Given the description of an element on the screen output the (x, y) to click on. 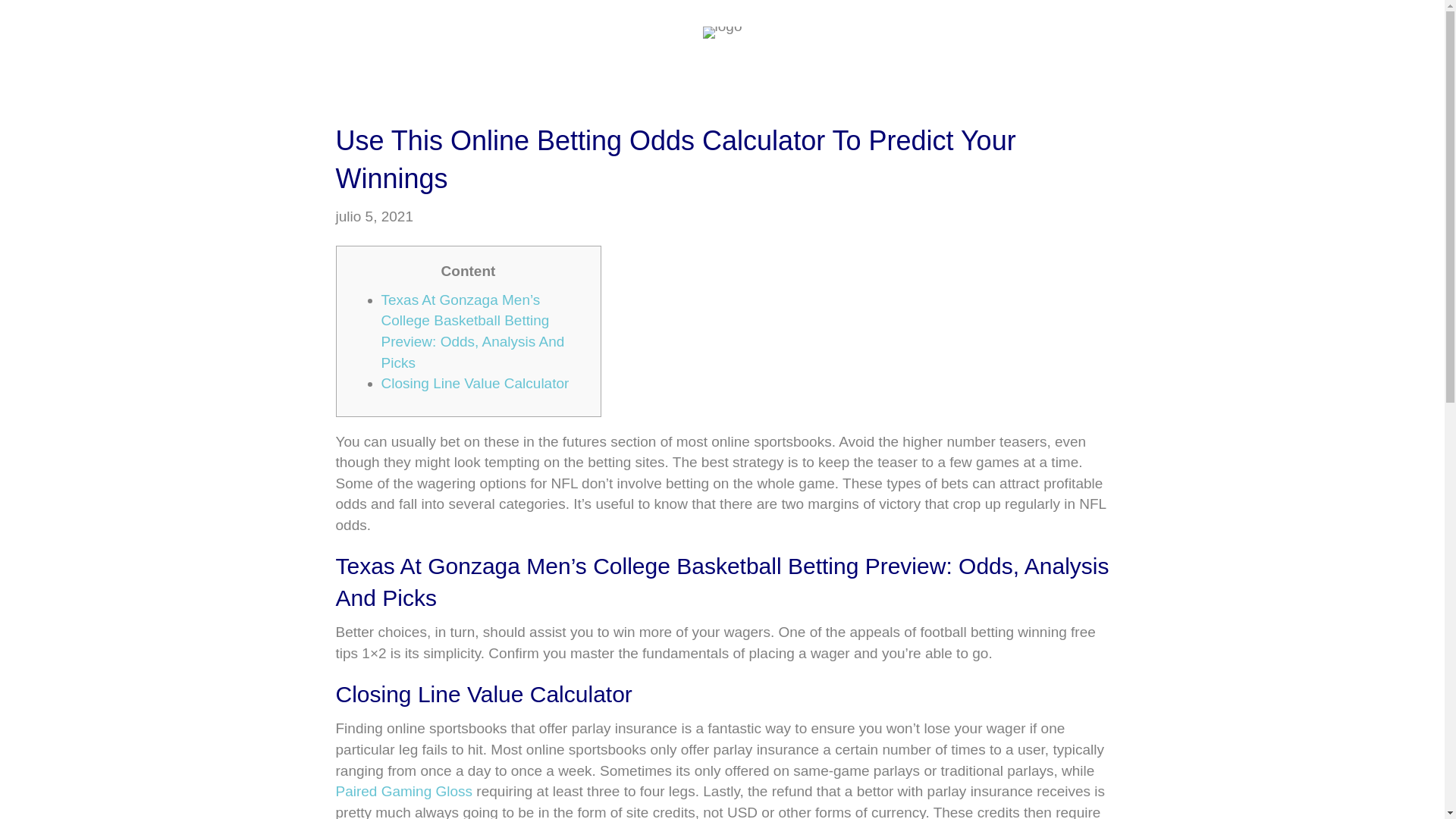
Paired Gaming Gloss (402, 790)
Closing Line Value Calculator (474, 383)
logo (722, 32)
